Given the description of an element on the screen output the (x, y) to click on. 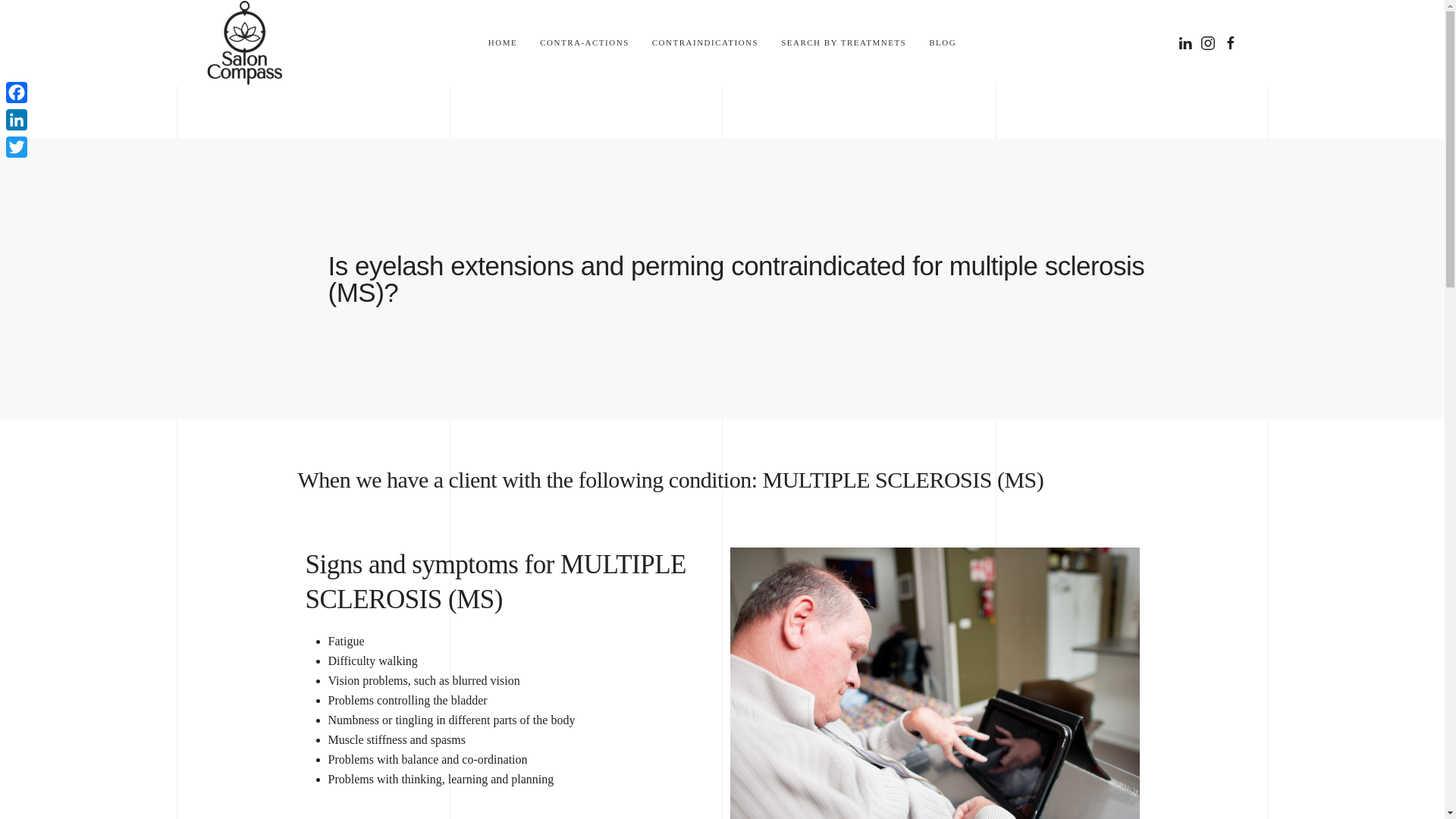
SEARCH BY TREATMNETS (843, 42)
Twitter (16, 146)
Facebook (16, 92)
LinkedIn (16, 119)
Twitter (16, 146)
CONTRA-ACTIONS (584, 42)
CONTRAINDICATIONS (705, 42)
Facebook (16, 92)
BLOG (942, 42)
LinkedIn (16, 119)
HOME (502, 42)
